Given the description of an element on the screen output the (x, y) to click on. 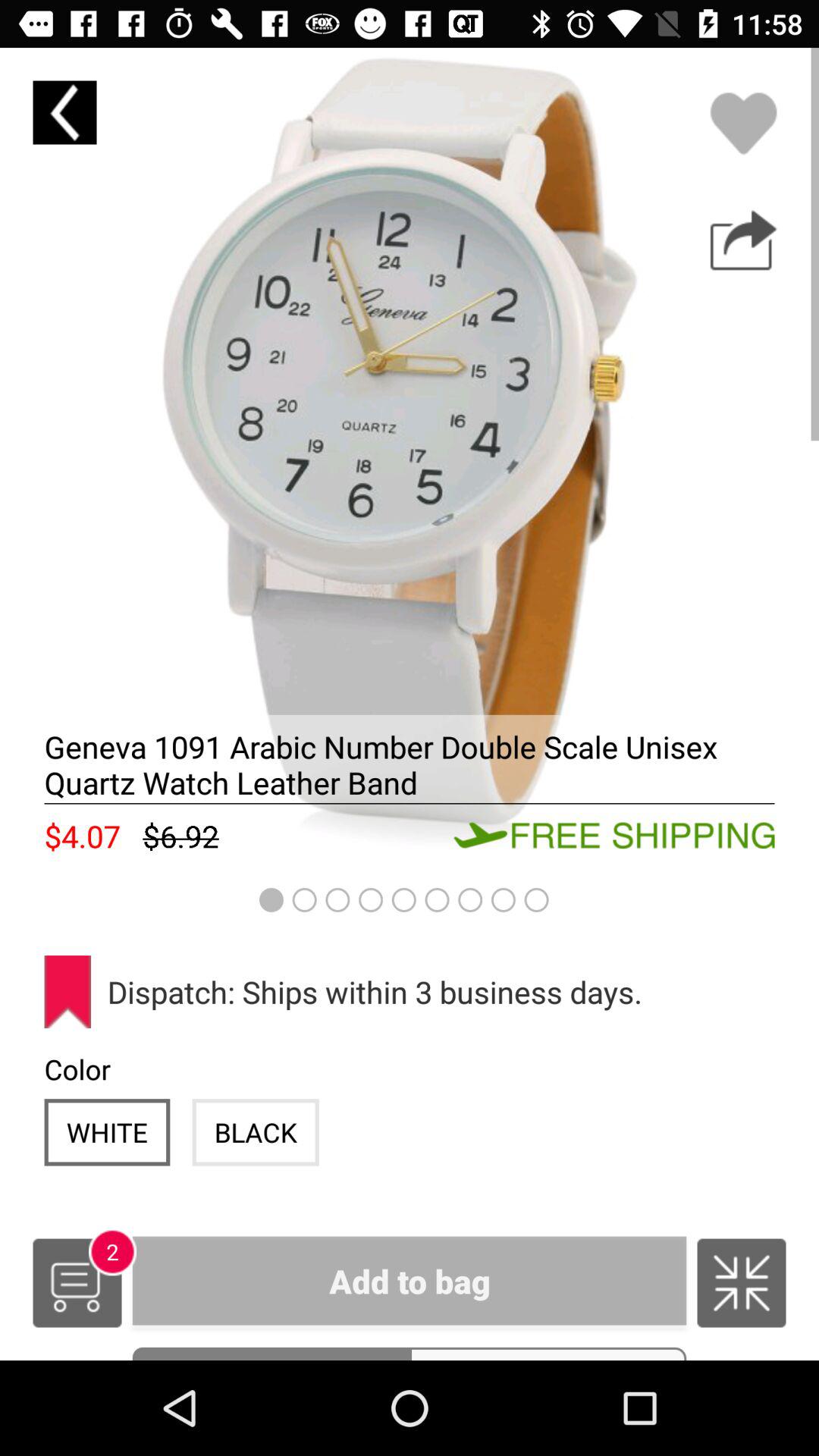
change language (741, 1282)
